Given the description of an element on the screen output the (x, y) to click on. 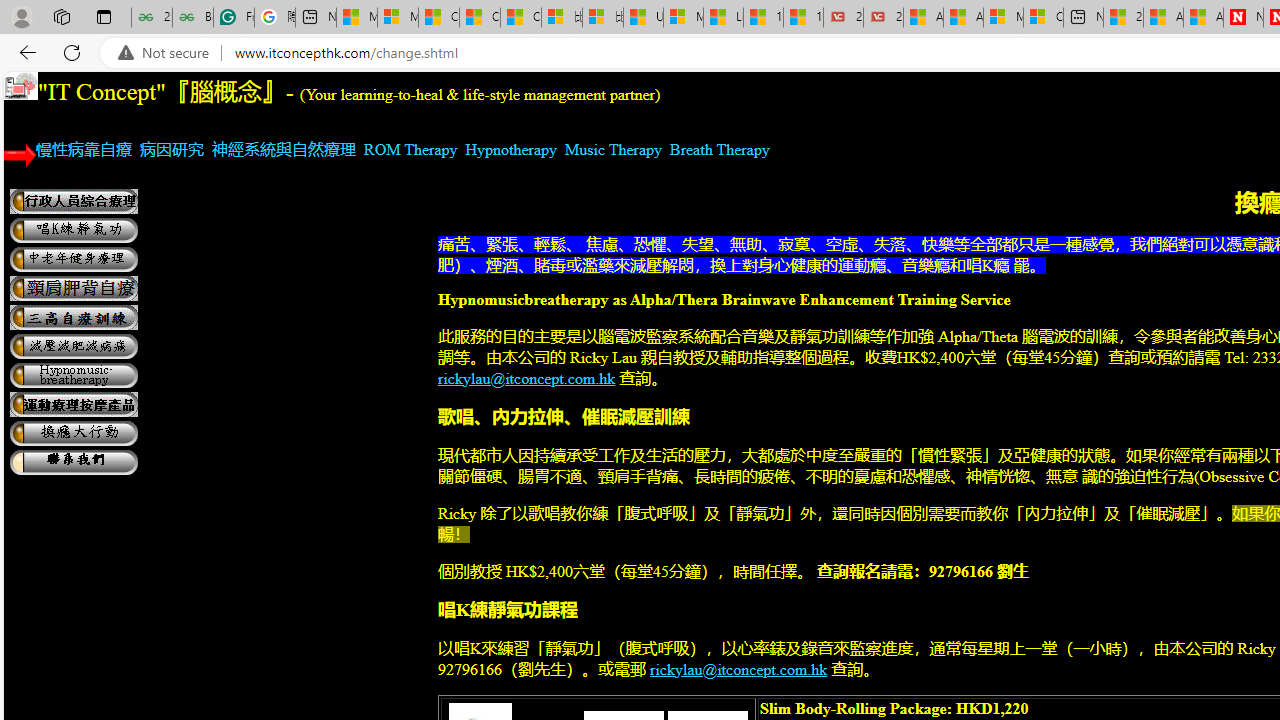
15 Ways Modern Life Contradicts the Teachings of Jesus (803, 17)
ROM Therapy (410, 149)
25 Basic Linux Commands For Beginners - GeeksforGeeks (151, 17)
Workspaces (61, 16)
New tab (1083, 17)
Microsoft Start (356, 17)
USA TODAY - MSN (643, 17)
Refresh (72, 52)
